Given the description of an element on the screen output the (x, y) to click on. 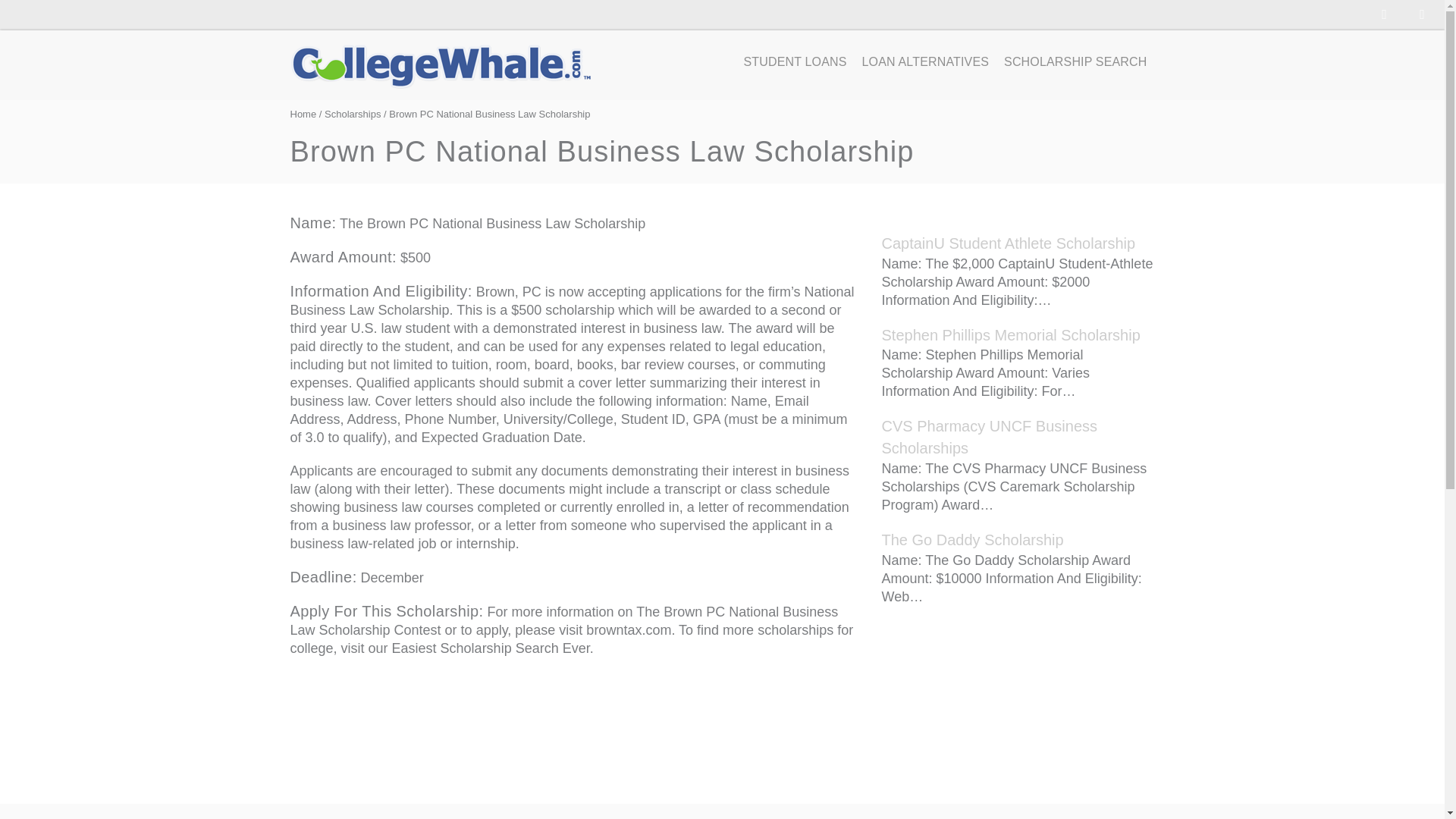
Stephen Phillips Memorial Scholarship (1010, 334)
CaptainU Student Athlete Scholarship (1007, 243)
LOAN ALTERNATIVES (925, 62)
SCHOLARSHIP SEARCH (1075, 62)
STUDENT LOANS (794, 62)
Advertisement (574, 722)
Scholarships (352, 113)
Home (302, 113)
The Go Daddy Scholarship (971, 539)
CVS Pharmacy UNCF Business Scholarships (988, 436)
